Given the description of an element on the screen output the (x, y) to click on. 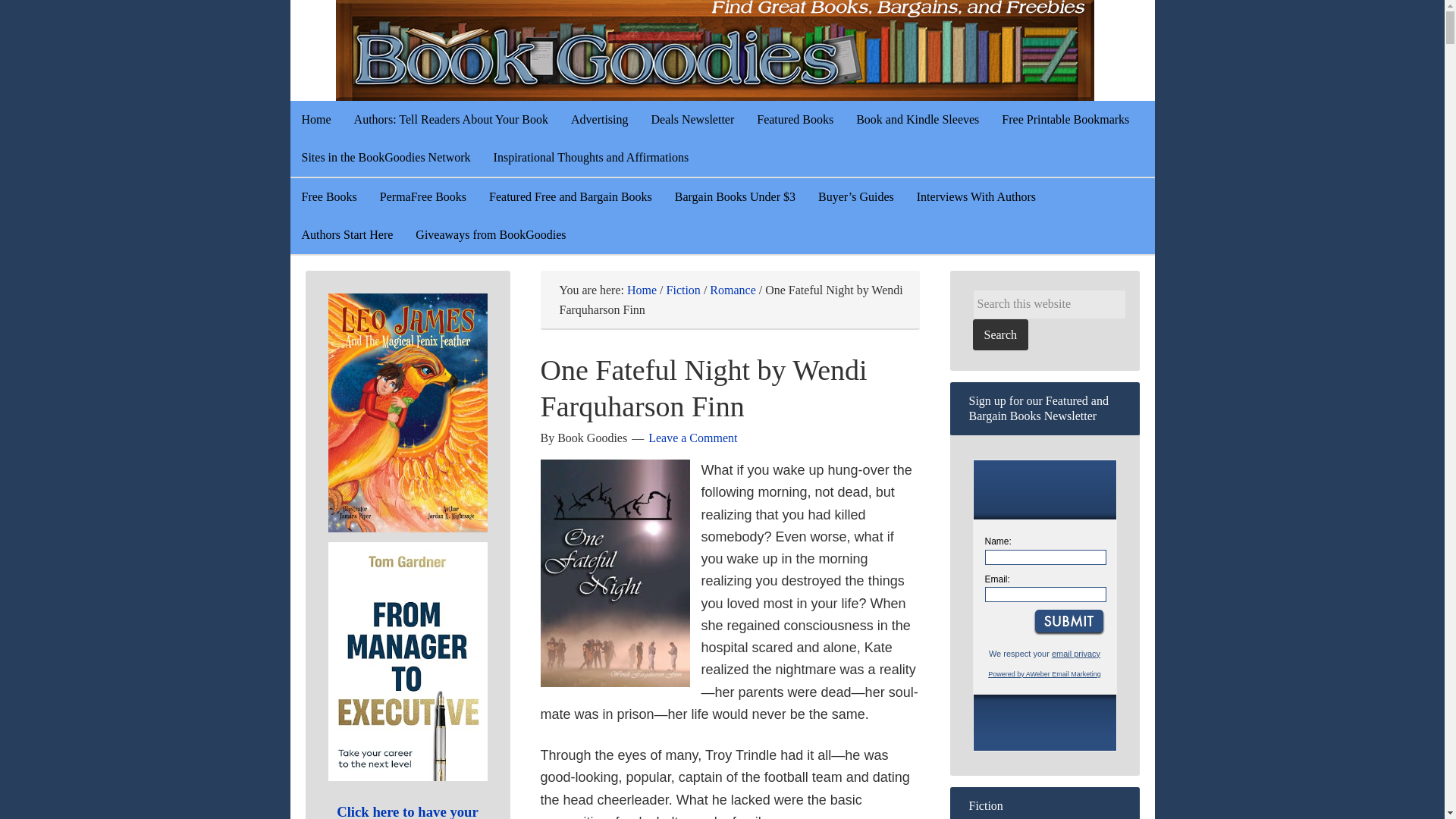
AWeber Email Marketing (1044, 674)
Interviews With Authors (975, 197)
Home (641, 289)
Free Printable Bookmarks (1065, 119)
Deals Newsletter (692, 119)
Book Goodies (751, 50)
Privacy Policy (1075, 653)
Giveaways from BookGoodies (490, 234)
Sites in the BookGoodies Network (385, 157)
Authors: Tell Readers About Your Book (450, 119)
Home (315, 119)
Fiction (683, 289)
Search (999, 334)
Featured Books (794, 119)
Free Books (328, 197)
